Given the description of an element on the screen output the (x, y) to click on. 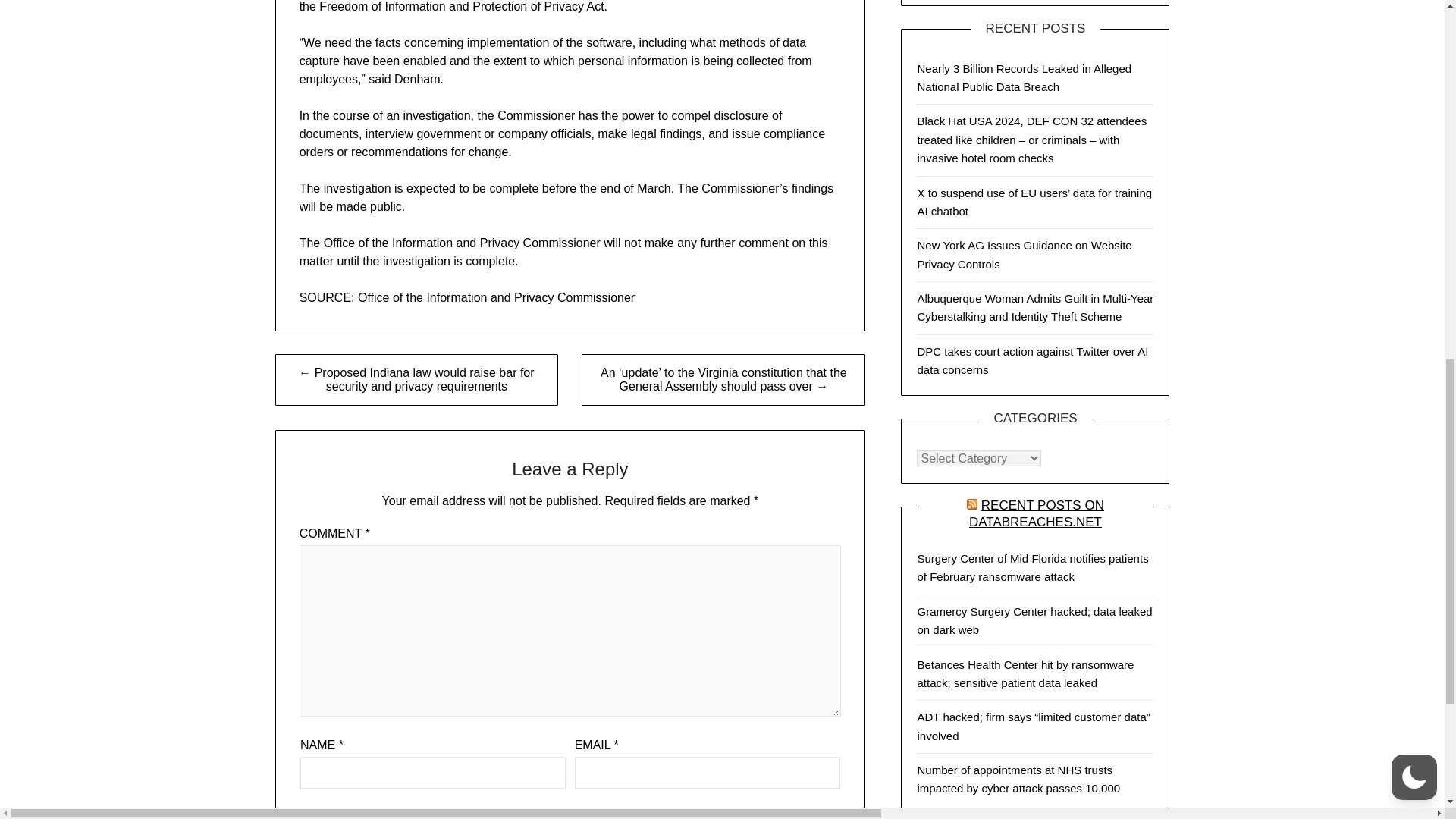
RECENT POSTS ON DATABREACHES.NET (1036, 513)
DPC takes court action against Twitter over AI data concerns (1032, 359)
Gramercy Surgery Center hacked; data leaked on dark web (1034, 620)
New York AG Issues Guidance on Website Privacy Controls (1024, 254)
